Given the description of an element on the screen output the (x, y) to click on. 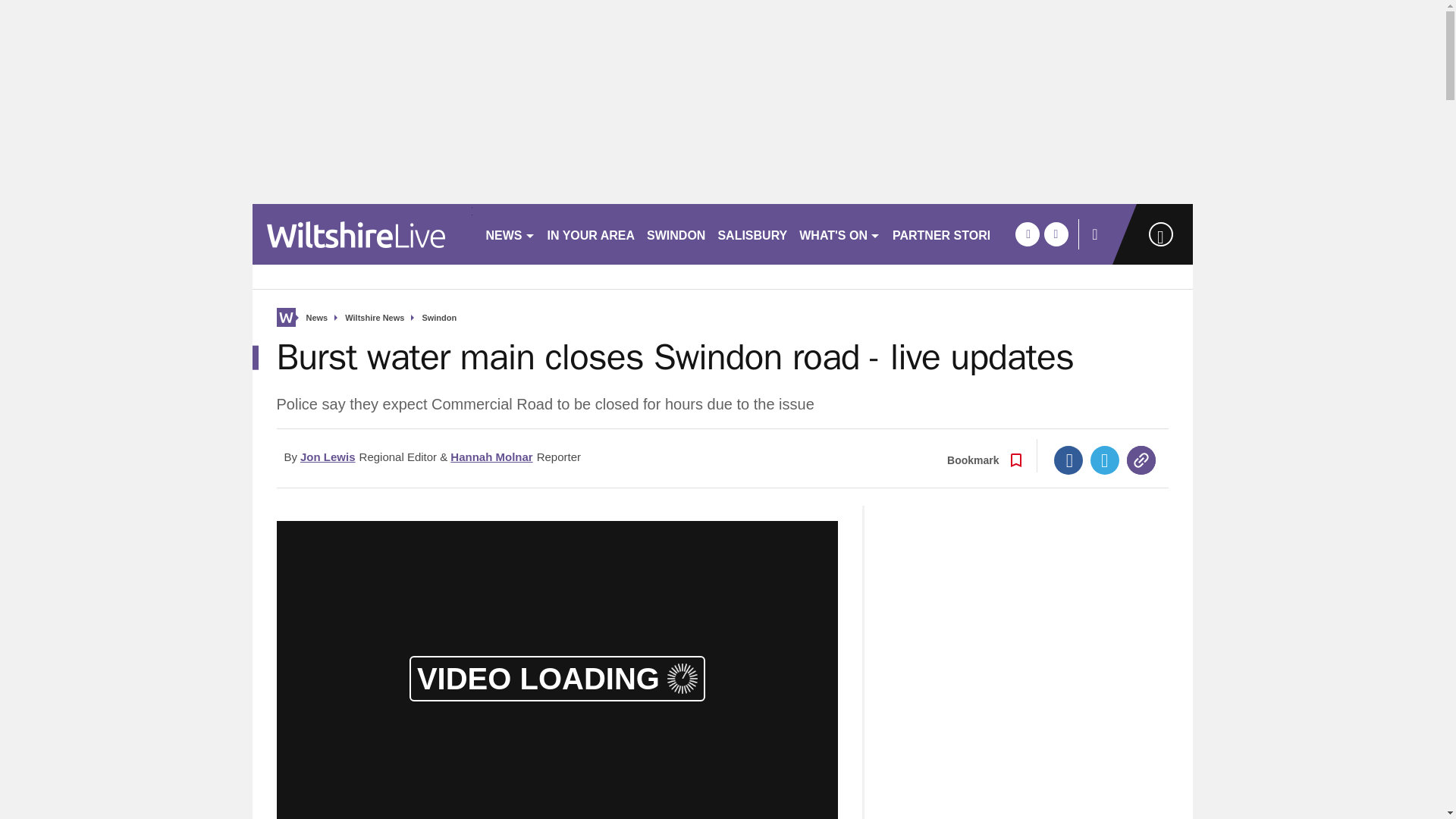
PARTNER STORIES (949, 233)
NEWS (509, 233)
SWINDON (675, 233)
WHAT'S ON (839, 233)
twitter (1055, 233)
SALISBURY (752, 233)
wiltshirelive (361, 233)
IN YOUR AREA (591, 233)
Facebook (1068, 460)
facebook (1026, 233)
